Given the description of an element on the screen output the (x, y) to click on. 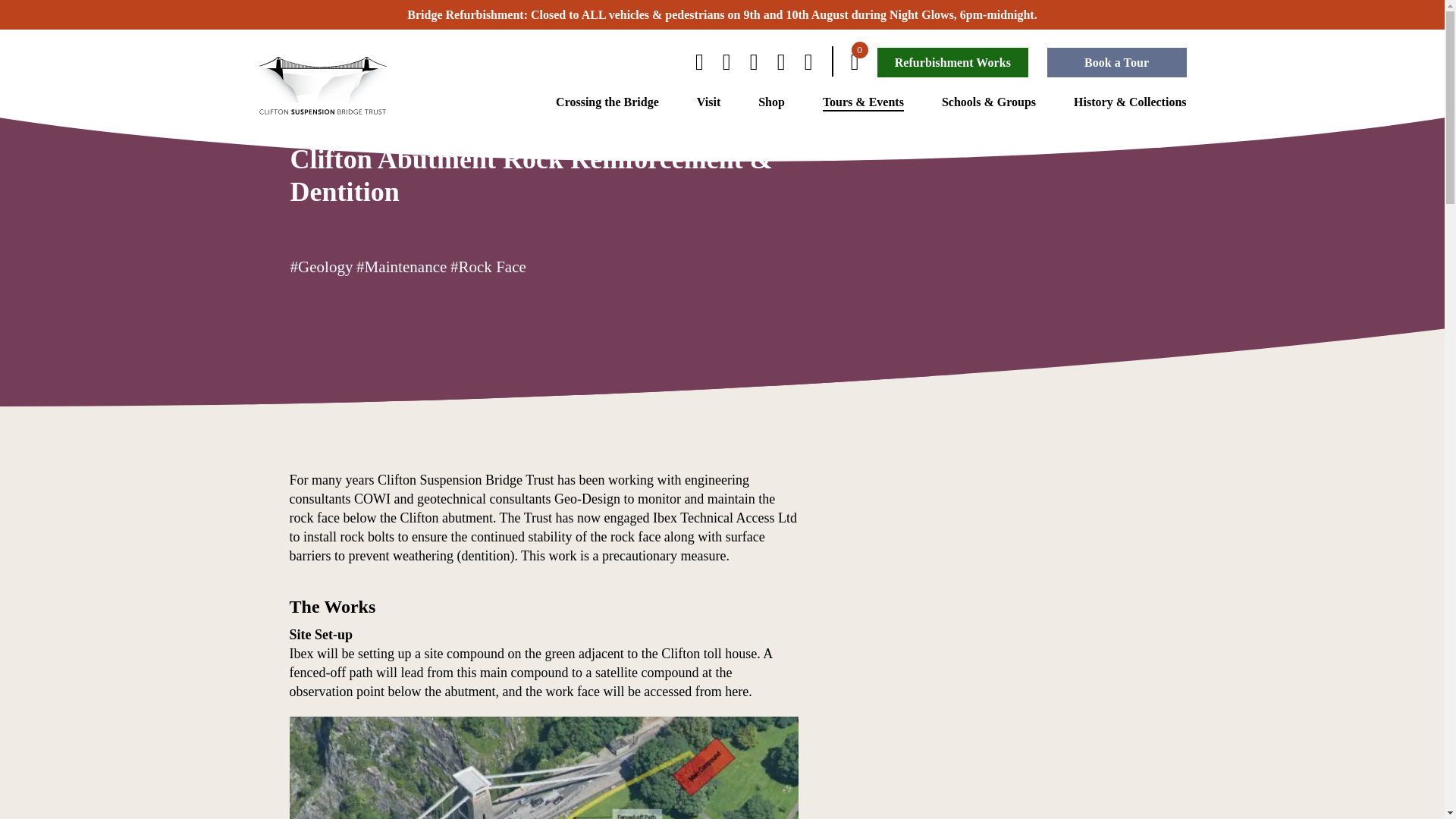
Home (303, 83)
Visit (708, 101)
Shop (771, 101)
Crossing the Bridge (607, 101)
Maintenance (360, 83)
Home (303, 83)
Book a Tour (1116, 61)
Refurbishment Works (952, 61)
Maintenance (360, 83)
